Given the description of an element on the screen output the (x, y) to click on. 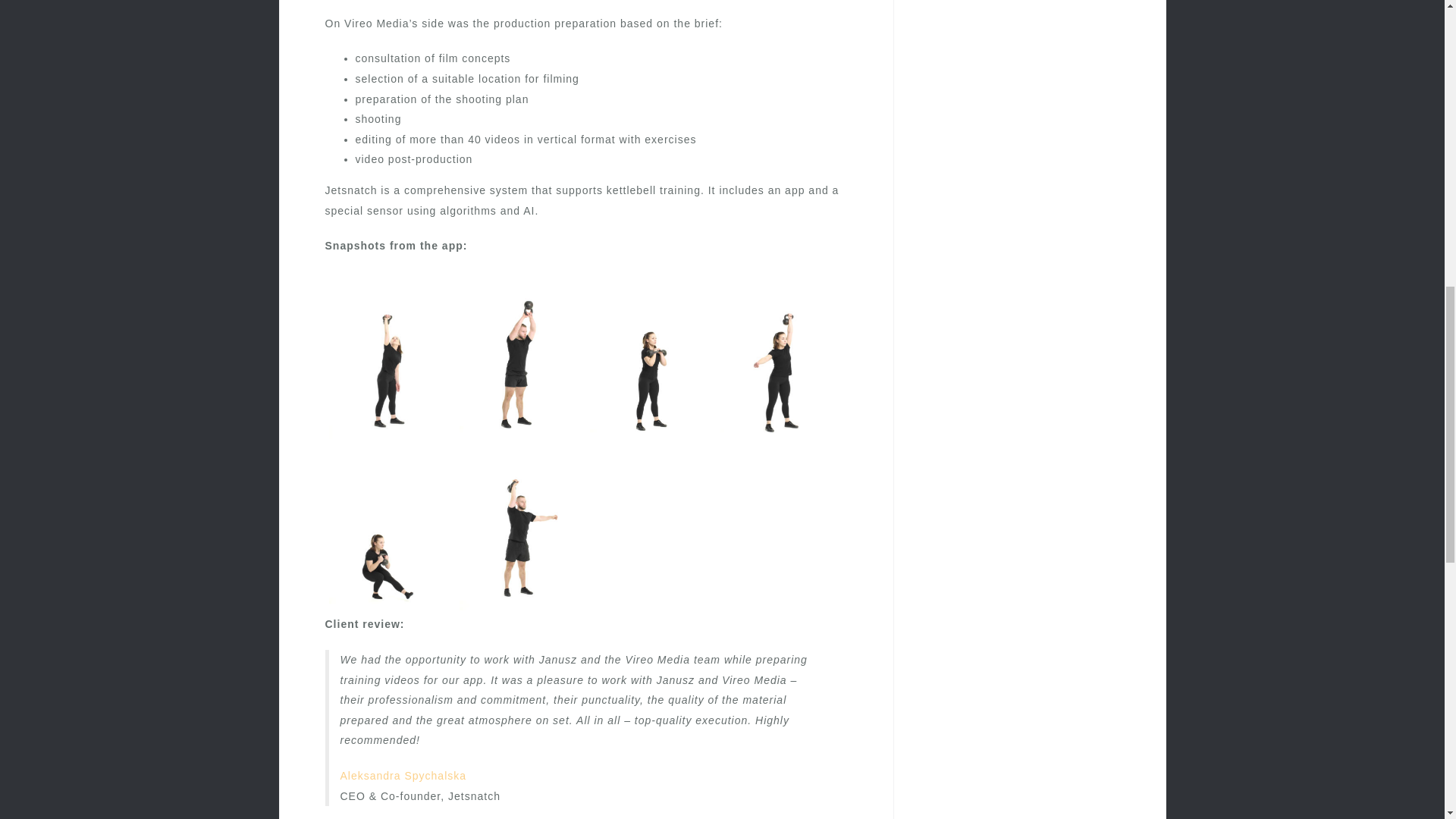
Aleksandra Spychalska (402, 775)
